Given the description of an element on the screen output the (x, y) to click on. 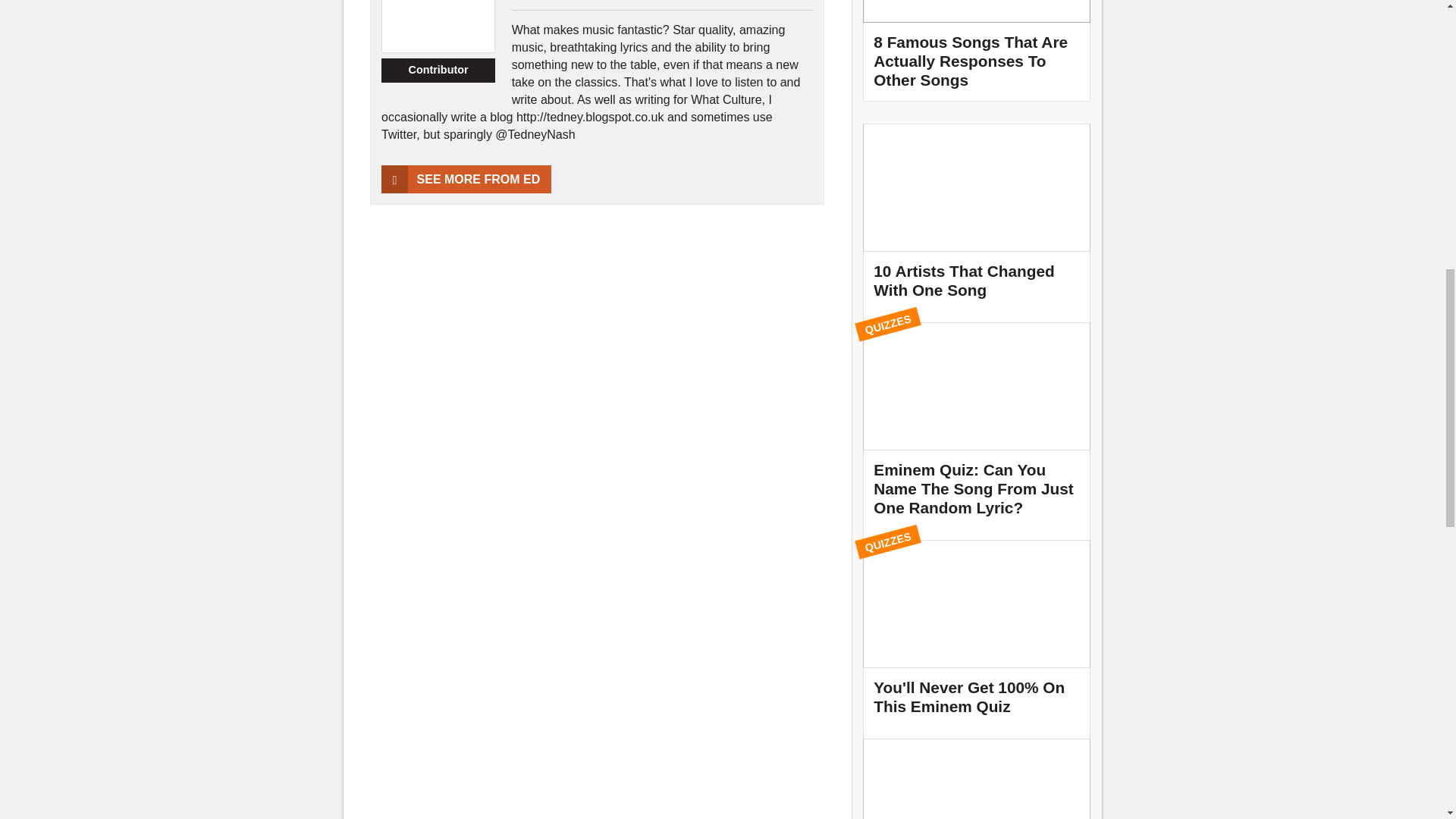
Contributor (438, 70)
Featured Video (976, 50)
10 Artists That Changed With One Song (976, 217)
10 Classic Albums That Artists Hated Recording (976, 778)
